Given the description of an element on the screen output the (x, y) to click on. 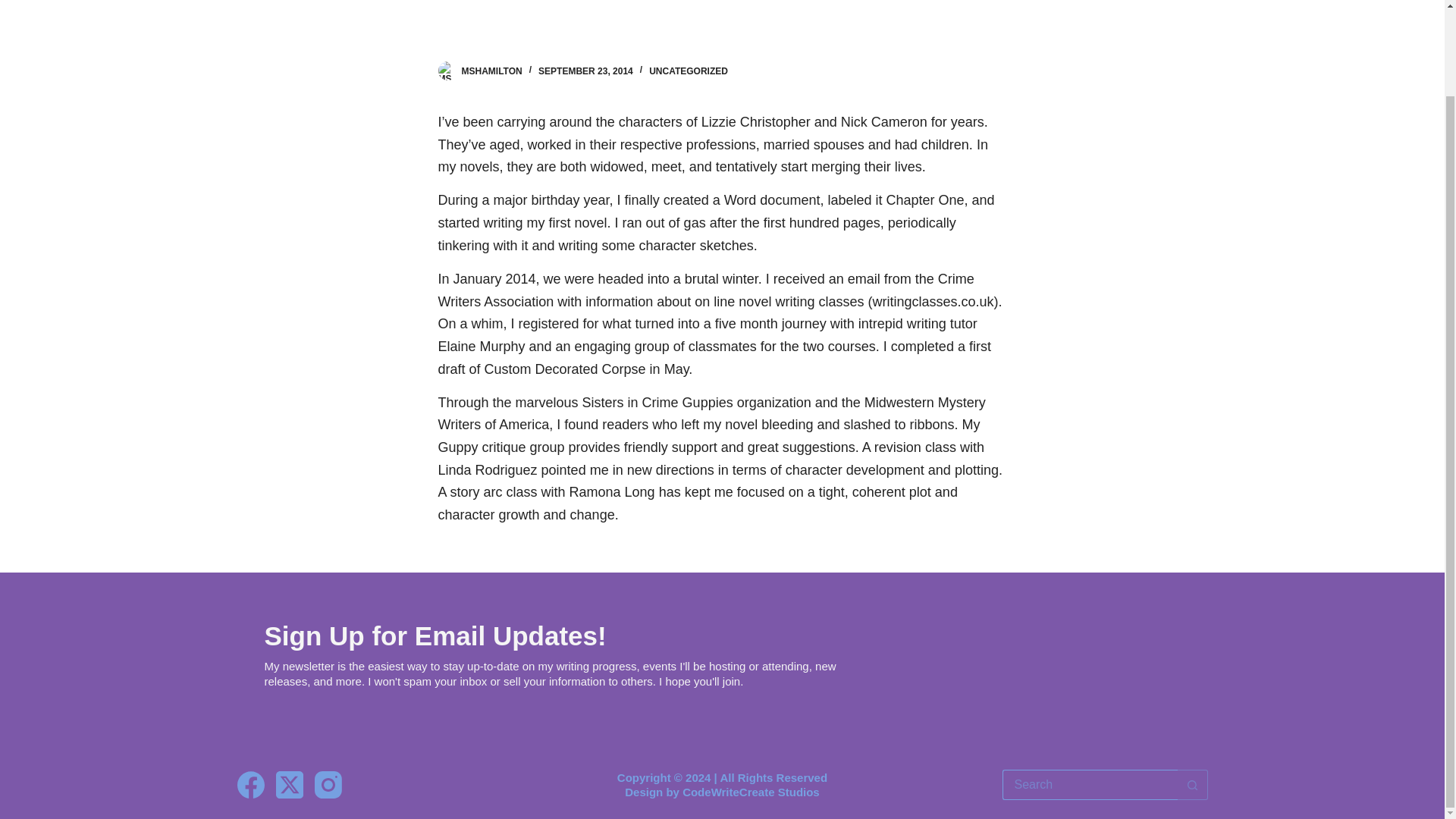
Posts by mshamilton (491, 71)
CodeWriteCreate Studios (750, 791)
MSHAMILTON (491, 71)
Search for... (1090, 784)
UNCATEGORIZED (688, 71)
